Given the description of an element on the screen output the (x, y) to click on. 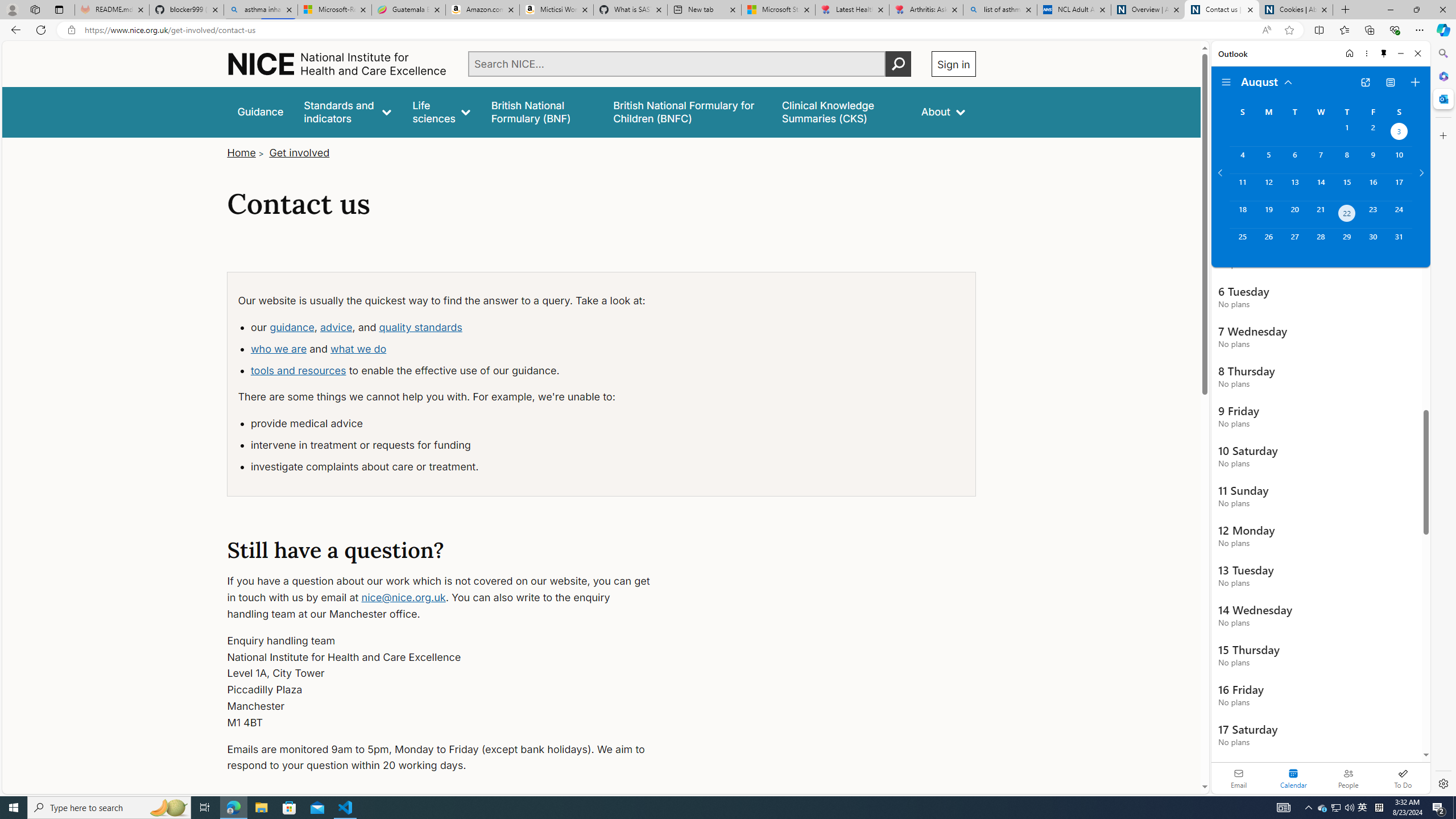
British National Formulary for Children (BNFC) (686, 111)
Tuesday, August 13, 2024.  (1294, 186)
Open in new tab (1365, 82)
Wednesday, August 28, 2024.  (1320, 241)
